Given the description of an element on the screen output the (x, y) to click on. 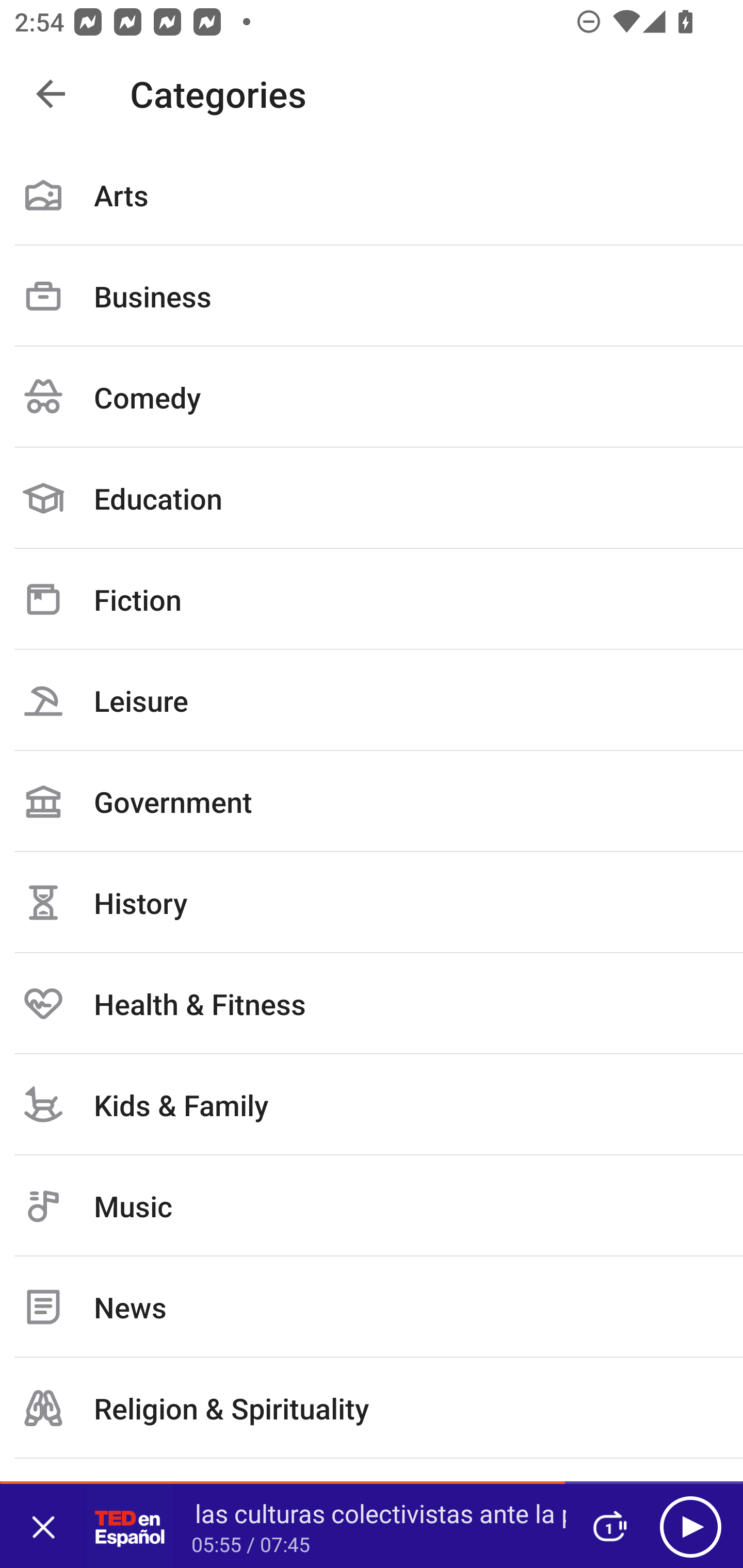
Navigate up (50, 93)
Arts (371, 195)
Business (371, 296)
Comedy (371, 397)
Education (371, 498)
Fiction (371, 598)
Leisure (371, 700)
Government (371, 801)
History (371, 902)
Health & Fitness (371, 1003)
Kids & Family (371, 1104)
Music (371, 1205)
News (371, 1306)
Religion & Spirituality (371, 1407)
Play (690, 1526)
